Given the description of an element on the screen output the (x, y) to click on. 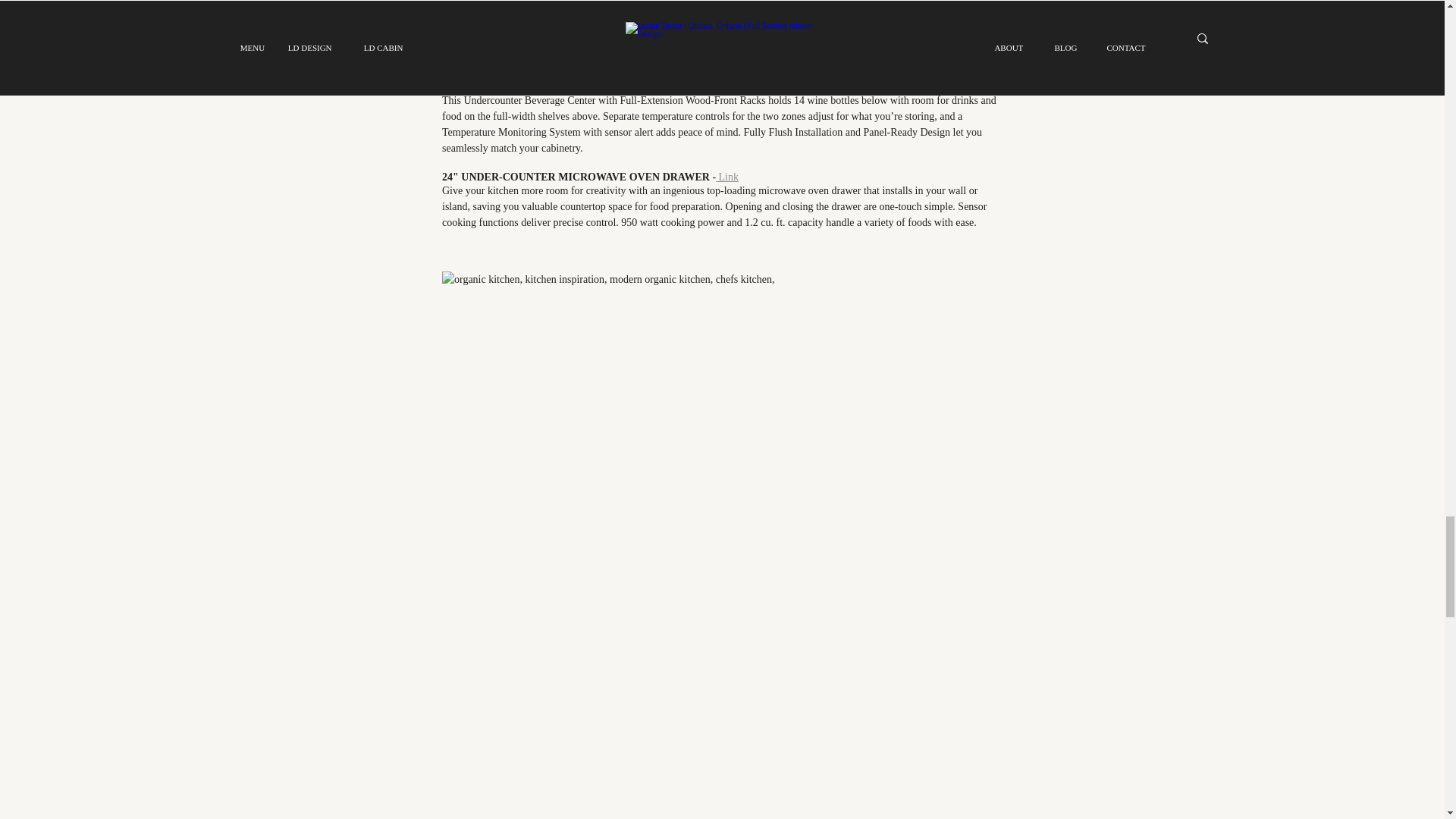
 - Link (818, 1)
 Link (727, 176)
 Link (814, 86)
